Given the description of an element on the screen output the (x, y) to click on. 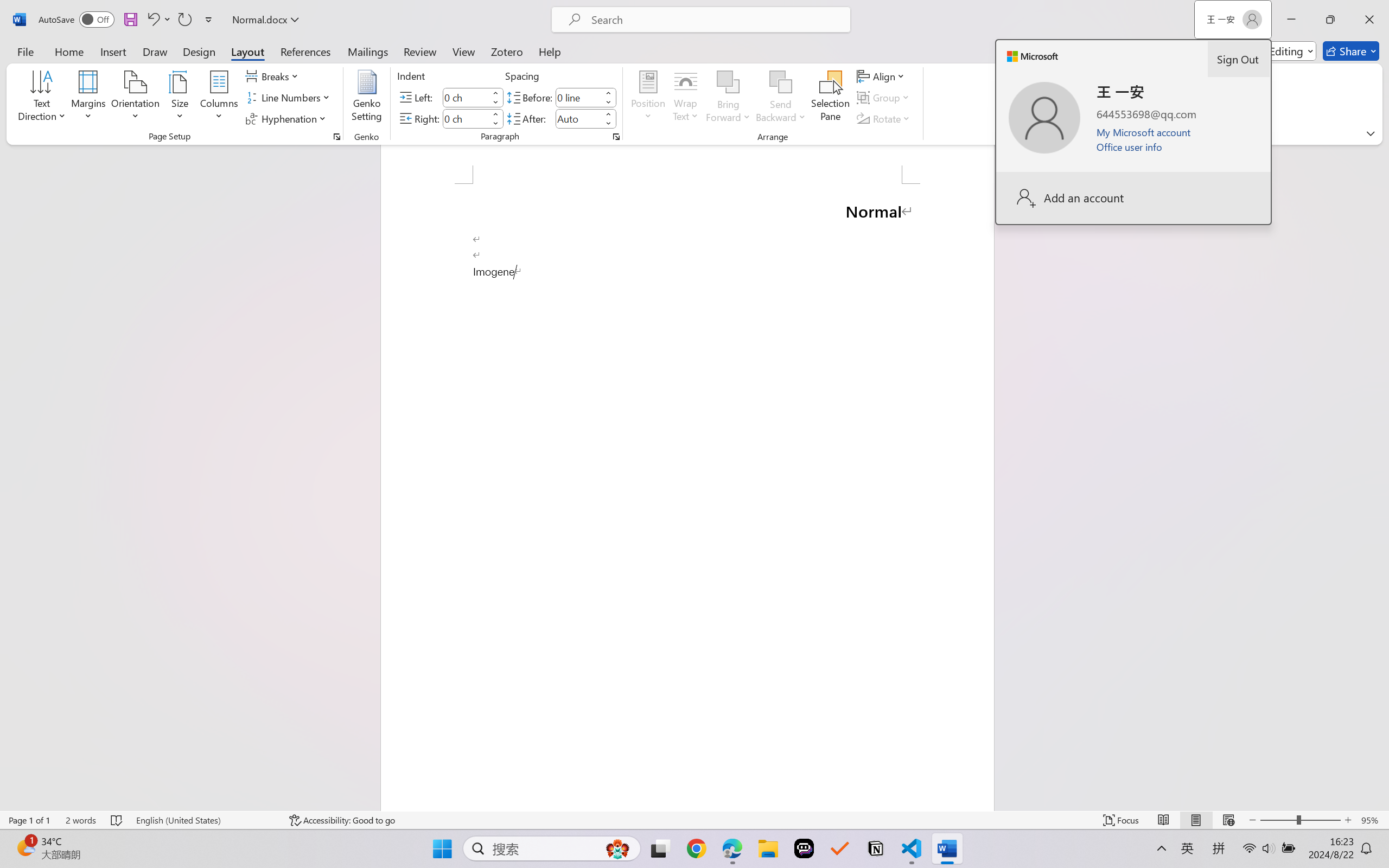
Wrap Text (685, 97)
Undo Paragraph Formatting (158, 19)
Selection Pane... (830, 97)
Hyphenation (287, 118)
Less (608, 123)
Columns (219, 97)
Page Setup... (336, 136)
Align (881, 75)
